Given the description of an element on the screen output the (x, y) to click on. 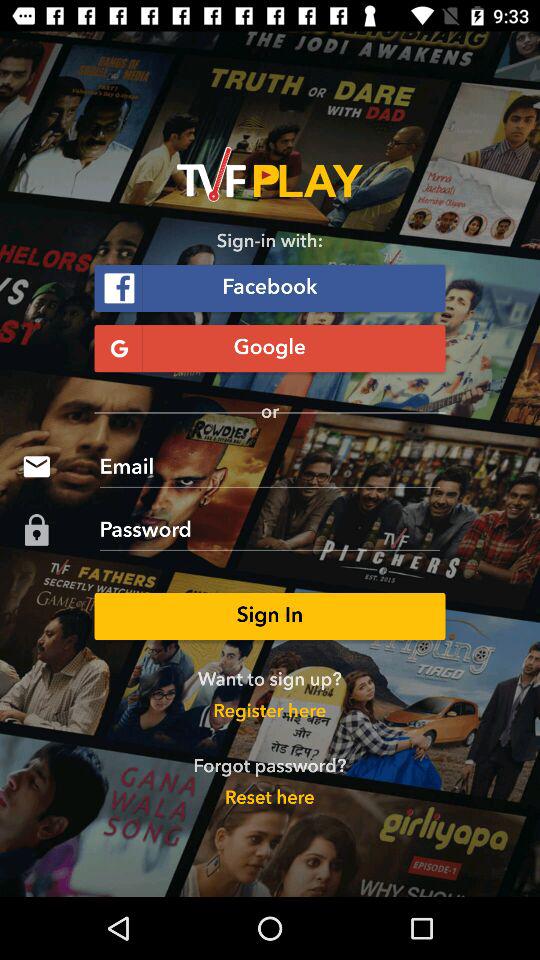
press icon below  or  icon (269, 466)
